Given the description of an element on the screen output the (x, y) to click on. 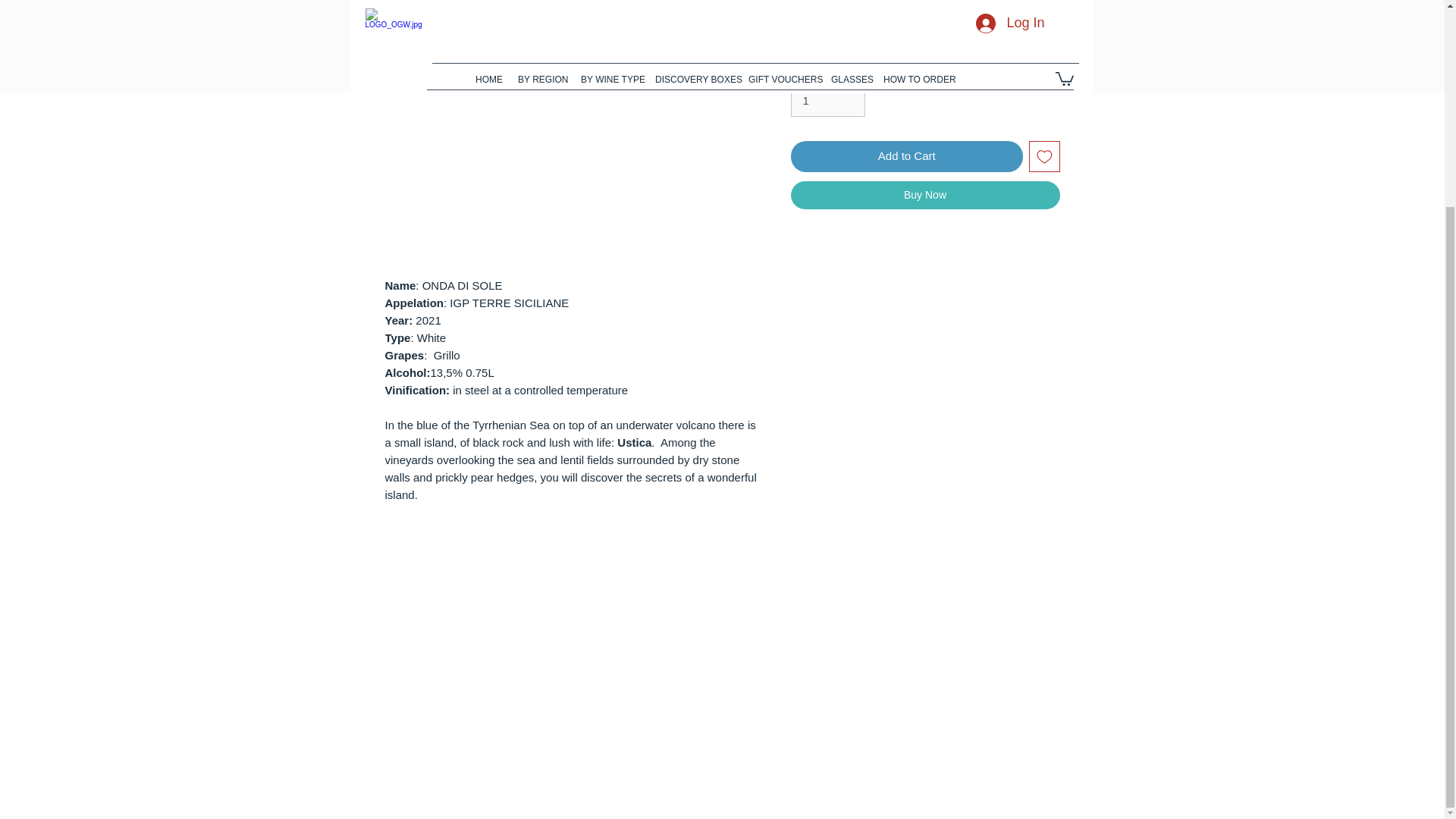
Add to Cart (906, 155)
1 (827, 100)
Buy Now (924, 194)
